Given the description of an element on the screen output the (x, y) to click on. 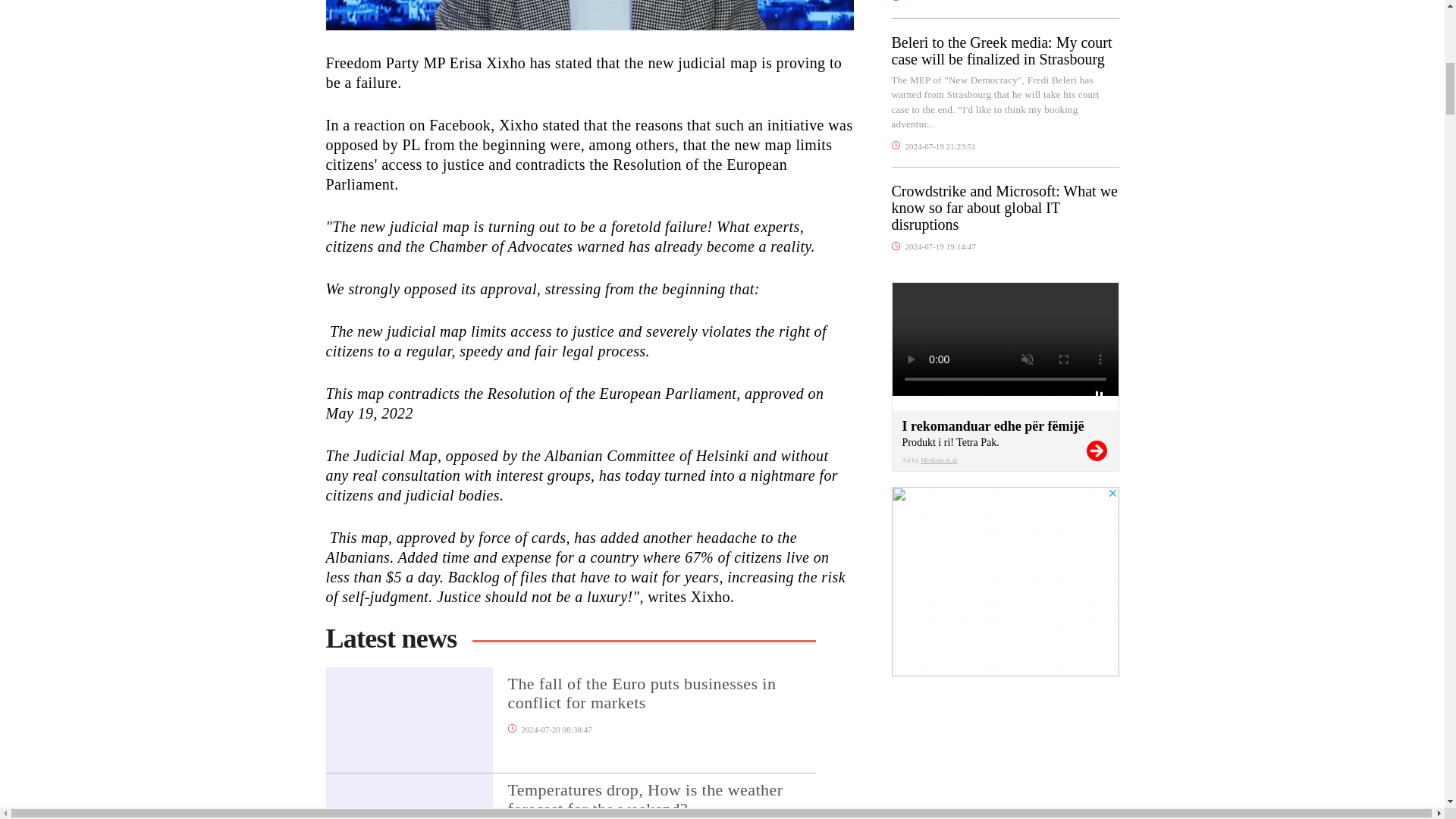
The fall of the Euro puts businesses in conflict for markets (661, 703)
3rd party ad content (1005, 770)
3rd party ad content (1005, 581)
